Given the description of an element on the screen output the (x, y) to click on. 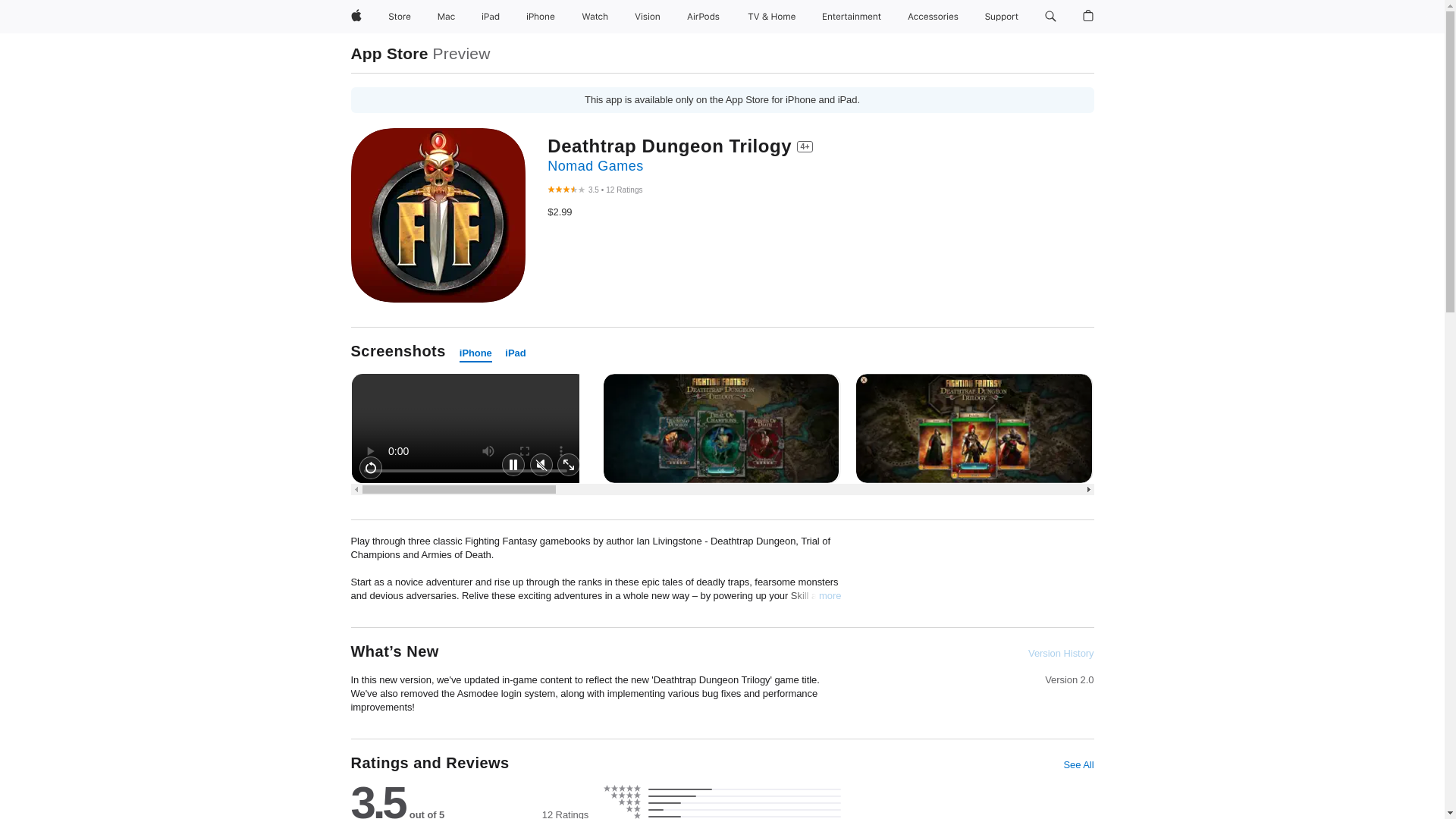
Store (398, 16)
